Given the description of an element on the screen output the (x, y) to click on. 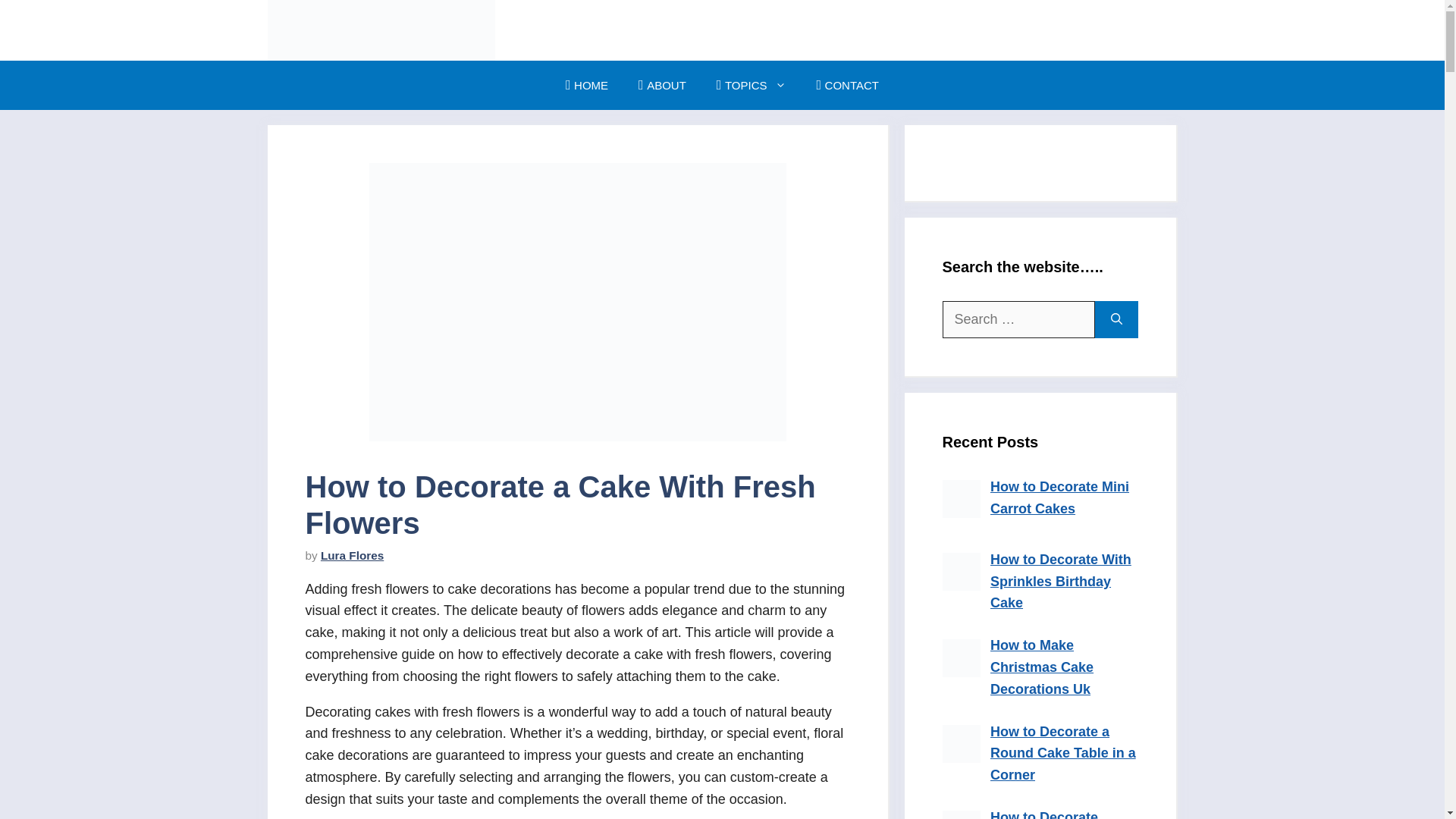
How to Decorate a Cake With Fresh Flowers 1 (577, 301)
TOPICS (751, 84)
HOME (586, 84)
ABOUT (662, 84)
View all posts by Lura Flores (352, 554)
